Given the description of an element on the screen output the (x, y) to click on. 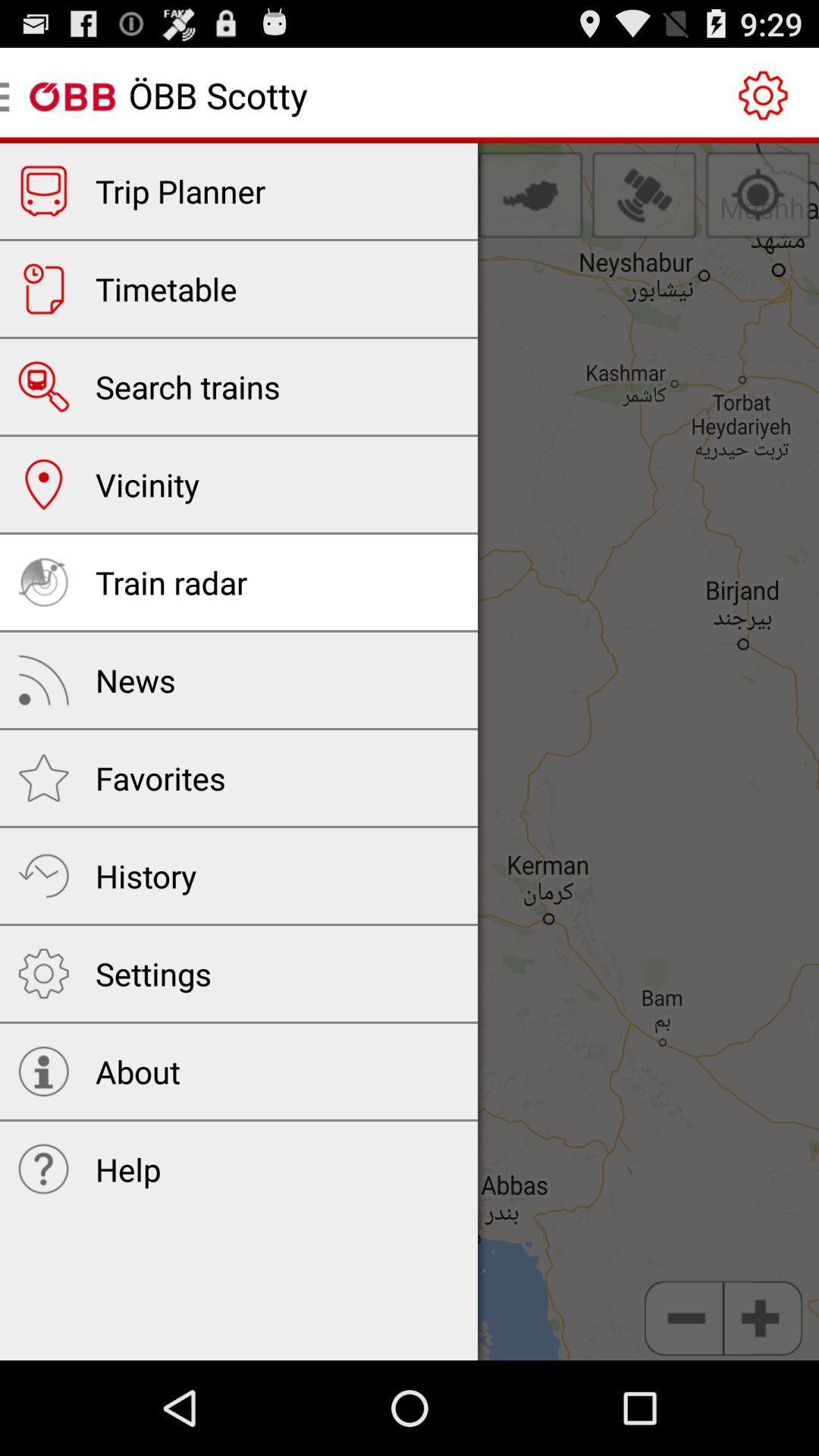
flip until the trip planner item (180, 190)
